Given the description of an element on the screen output the (x, y) to click on. 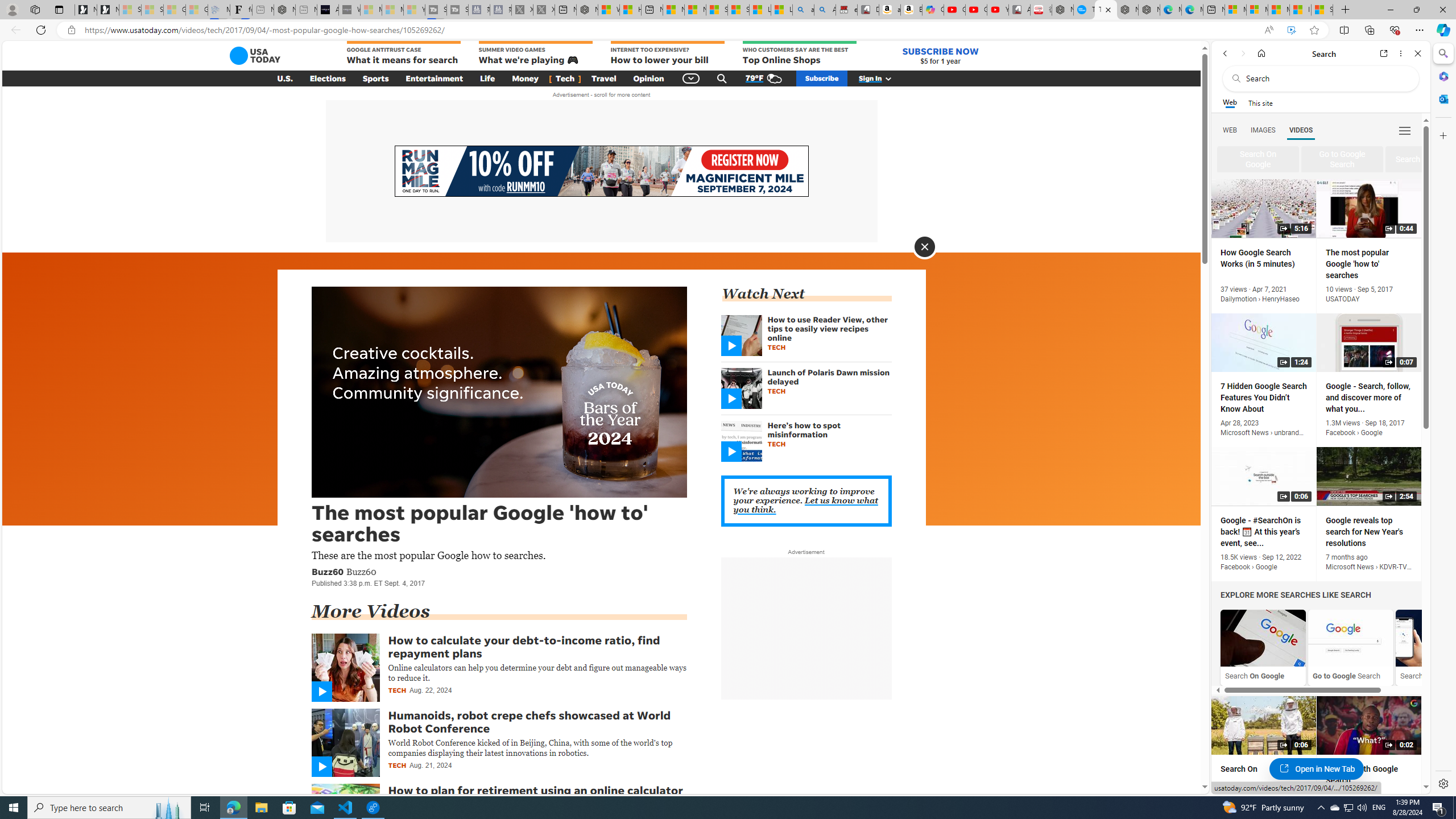
WEB (1230, 130)
Subscribe (821, 78)
Search Filter, WEB (1230, 129)
Class: gnt_n_lg_svg (254, 55)
Opinion (648, 78)
Go to Google Search (1350, 637)
